Given the description of an element on the screen output the (x, y) to click on. 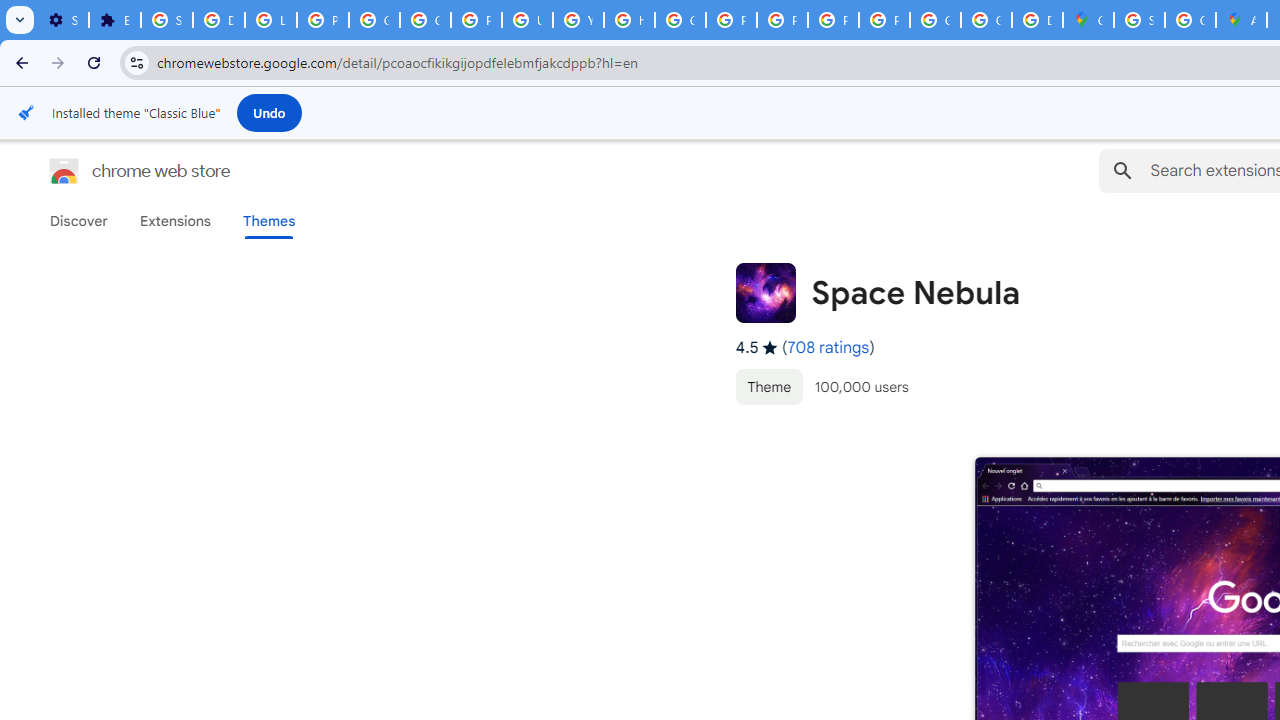
Extensions (174, 221)
https://scholar.google.com/ (629, 20)
Learn how to find your photos - Google Photos Help (270, 20)
Extensions (114, 20)
Chrome Web Store logo (63, 170)
Themes (269, 221)
Google Maps (1087, 20)
Settings - On startup (63, 20)
Undo (269, 112)
